Given the description of an element on the screen output the (x, y) to click on. 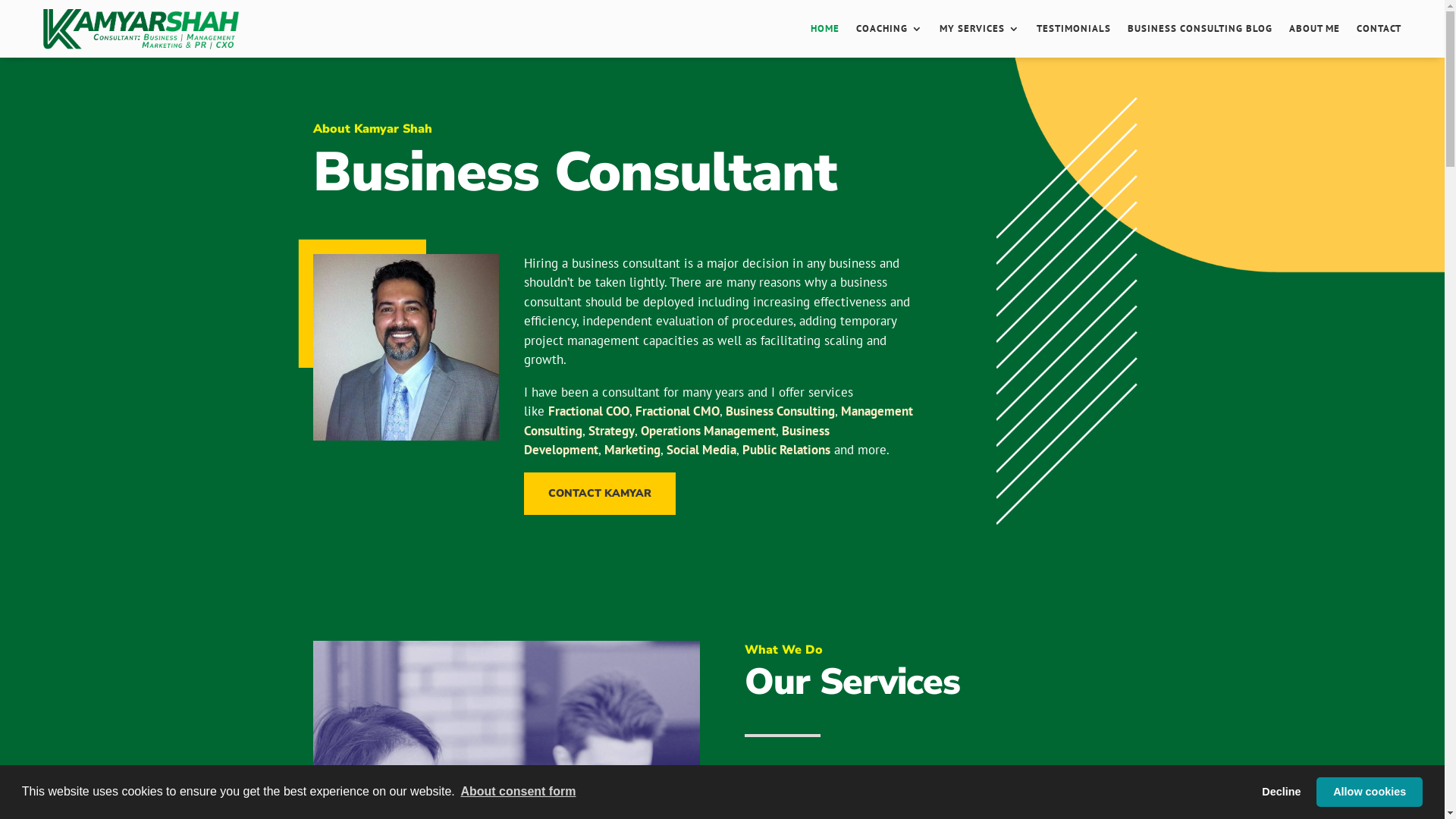
About consent form Element type: text (517, 791)
ABOUT ME Element type: text (1314, 28)
Decline Element type: text (1281, 791)
Fractional CMO Element type: text (677, 410)
Strategy Element type: text (611, 430)
CONTACT KAMYAR Element type: text (599, 493)
Business Consulting Element type: text (779, 410)
CONTACT Element type: text (1378, 28)
COACHING Element type: text (889, 28)
TESTIMONIALS Element type: text (1073, 28)
Business Development Element type: text (676, 440)
Kamyar-Shah Element type: hover (405, 347)
Marketing Element type: text (632, 449)
MY SERVICES Element type: text (979, 28)
Allow cookies Element type: text (1369, 791)
BUSINESS CONSULTING BLOG Element type: text (1199, 28)
HOME Element type: text (824, 28)
Operations Management Element type: text (707, 430)
Social Media Element type: text (701, 449)
Management Consulting Element type: text (718, 420)
Public Relations Element type: text (786, 449)
Fractional COO Element type: text (588, 410)
